Given the description of an element on the screen output the (x, y) to click on. 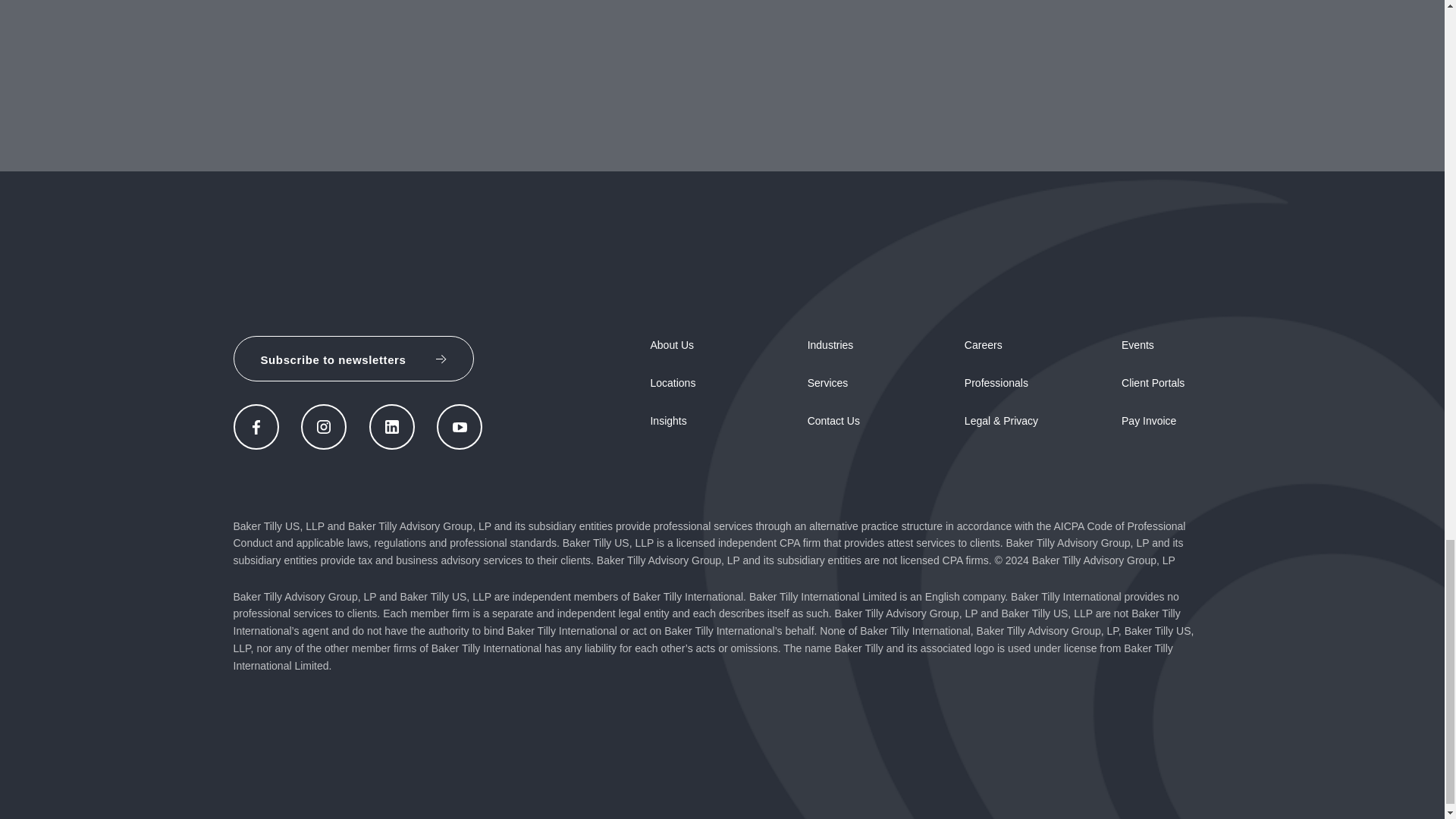
Locations (672, 382)
About Us (671, 345)
Events (1137, 345)
Careers (983, 345)
Insights (667, 420)
Subscribe to newsletters (353, 358)
Services (828, 382)
Client Portals (1153, 382)
Contact Us (834, 420)
Professionals (995, 382)
